Given the description of an element on the screen output the (x, y) to click on. 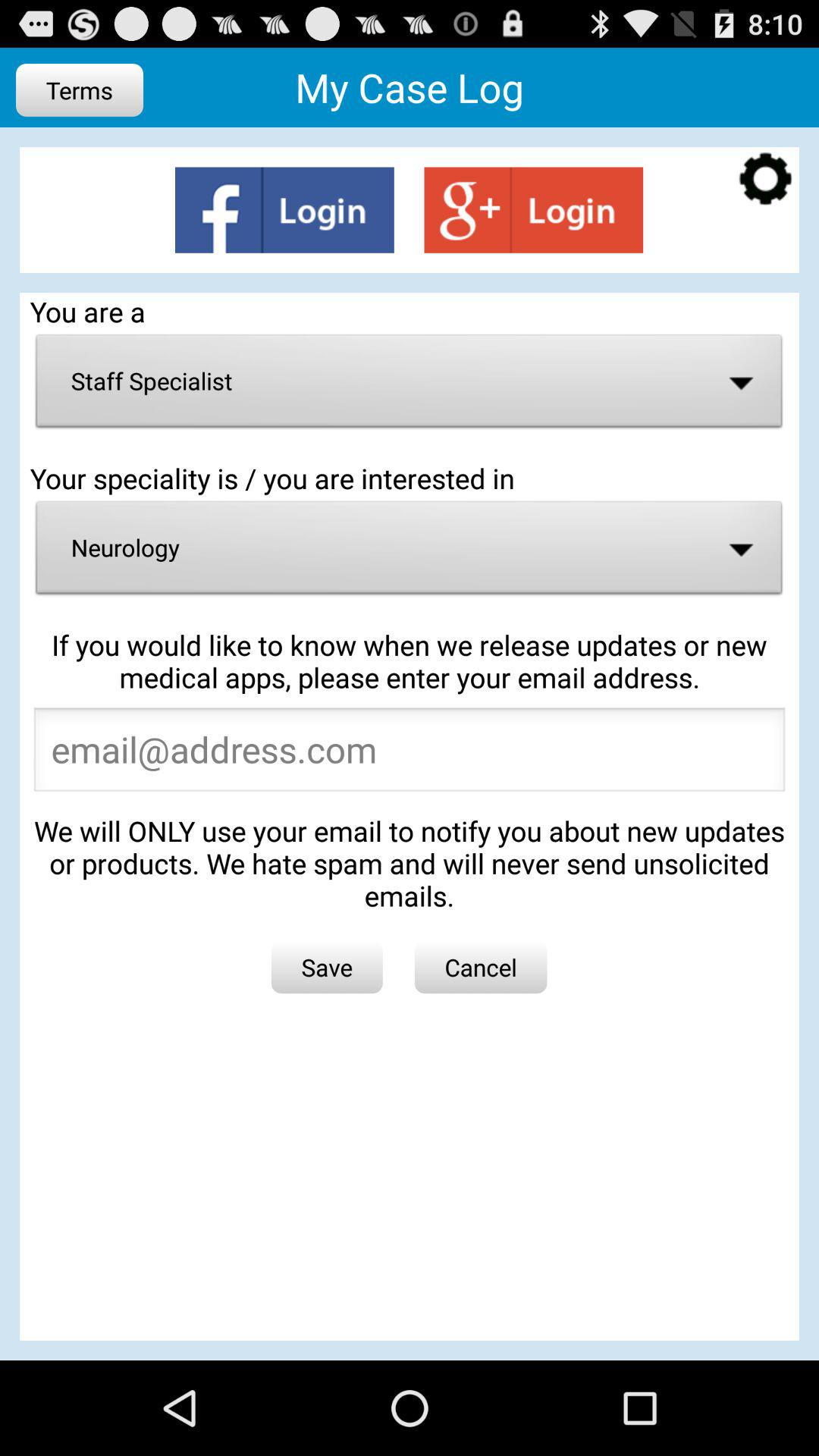
enter email address (409, 753)
